Given the description of an element on the screen output the (x, y) to click on. 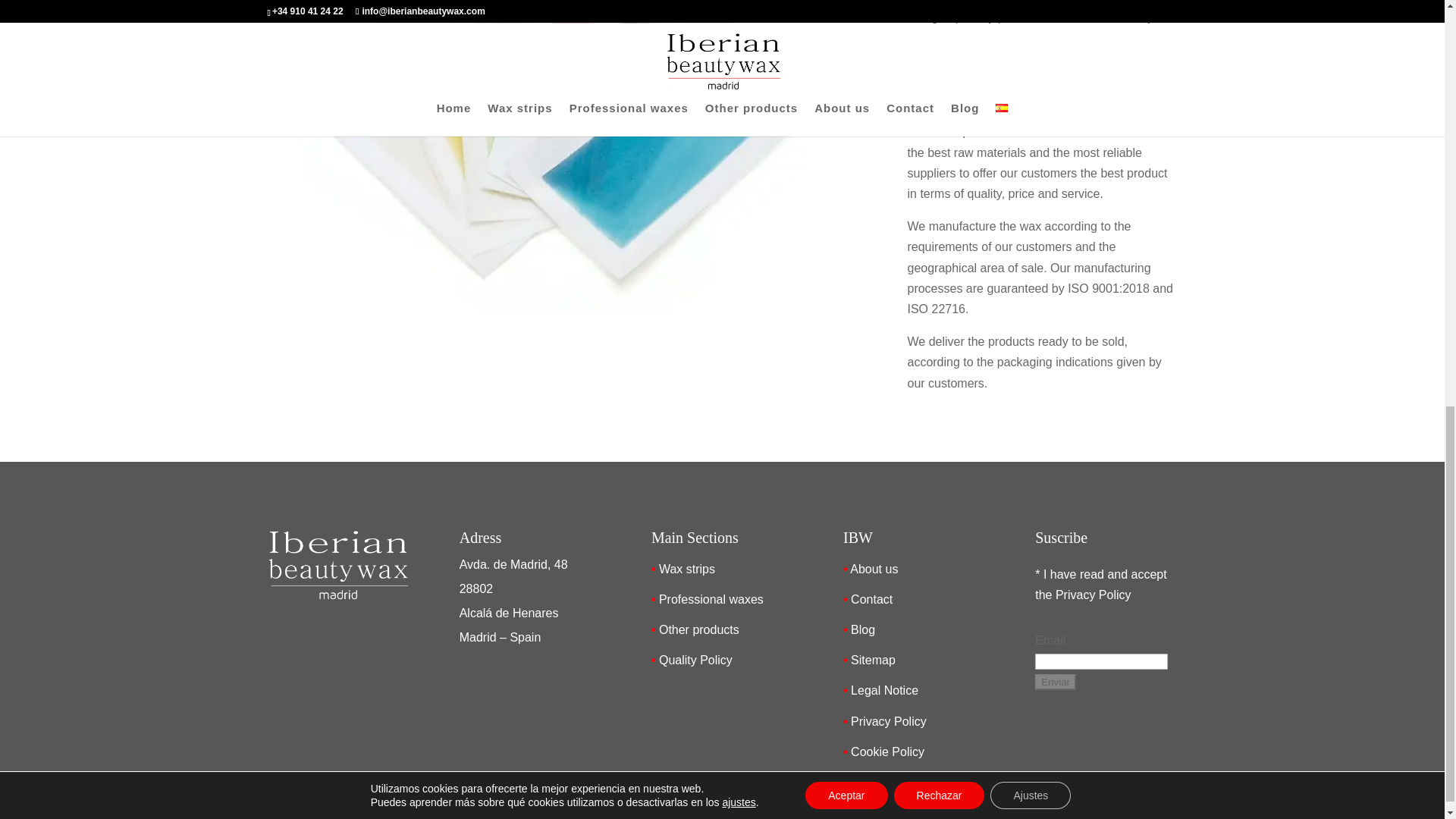
Enviar (1055, 682)
NEW LOGO IBERIAN BLANCO (337, 564)
waxing-cold-wax-strips (561, 307)
Enviar (1055, 682)
